Given the description of an element on the screen output the (x, y) to click on. 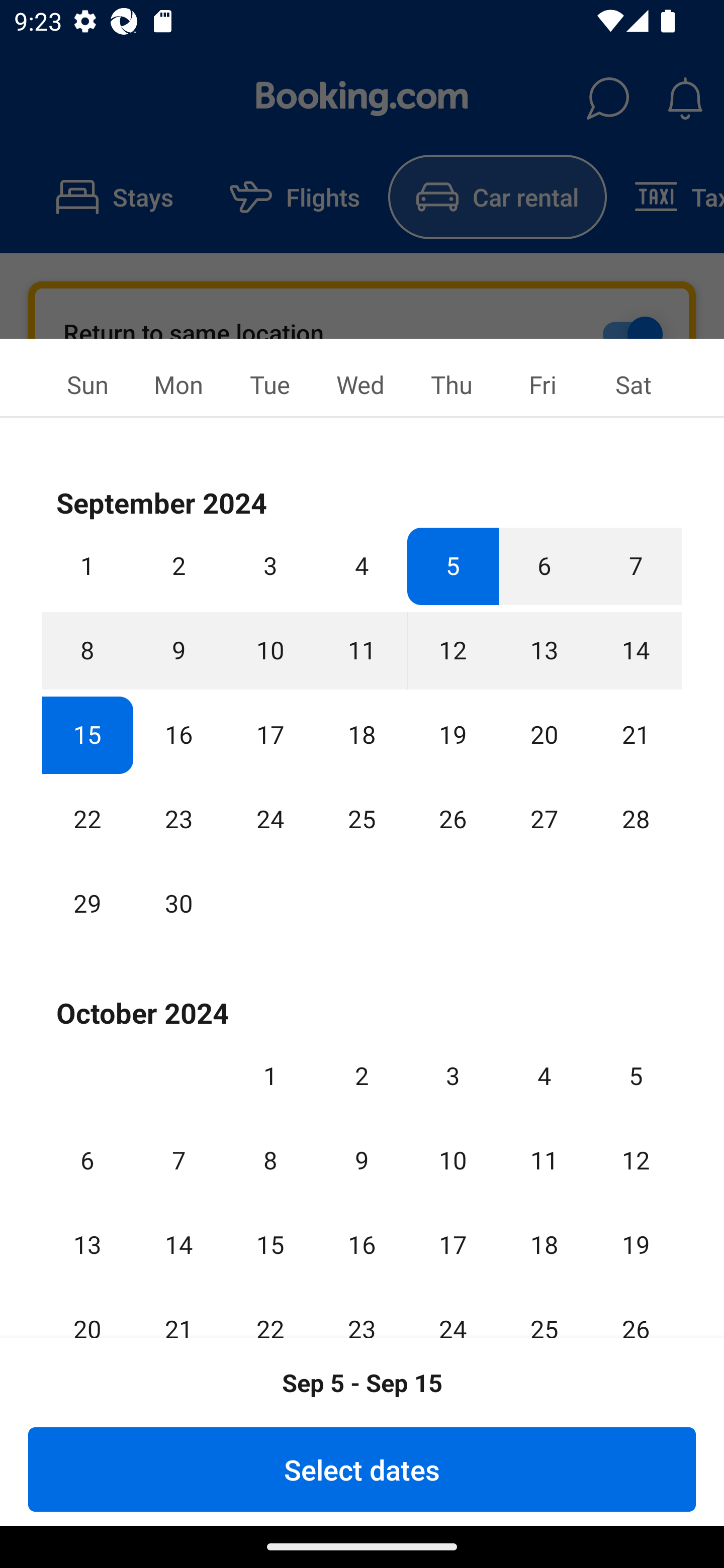
Select dates (361, 1468)
